Given the description of an element on the screen output the (x, y) to click on. 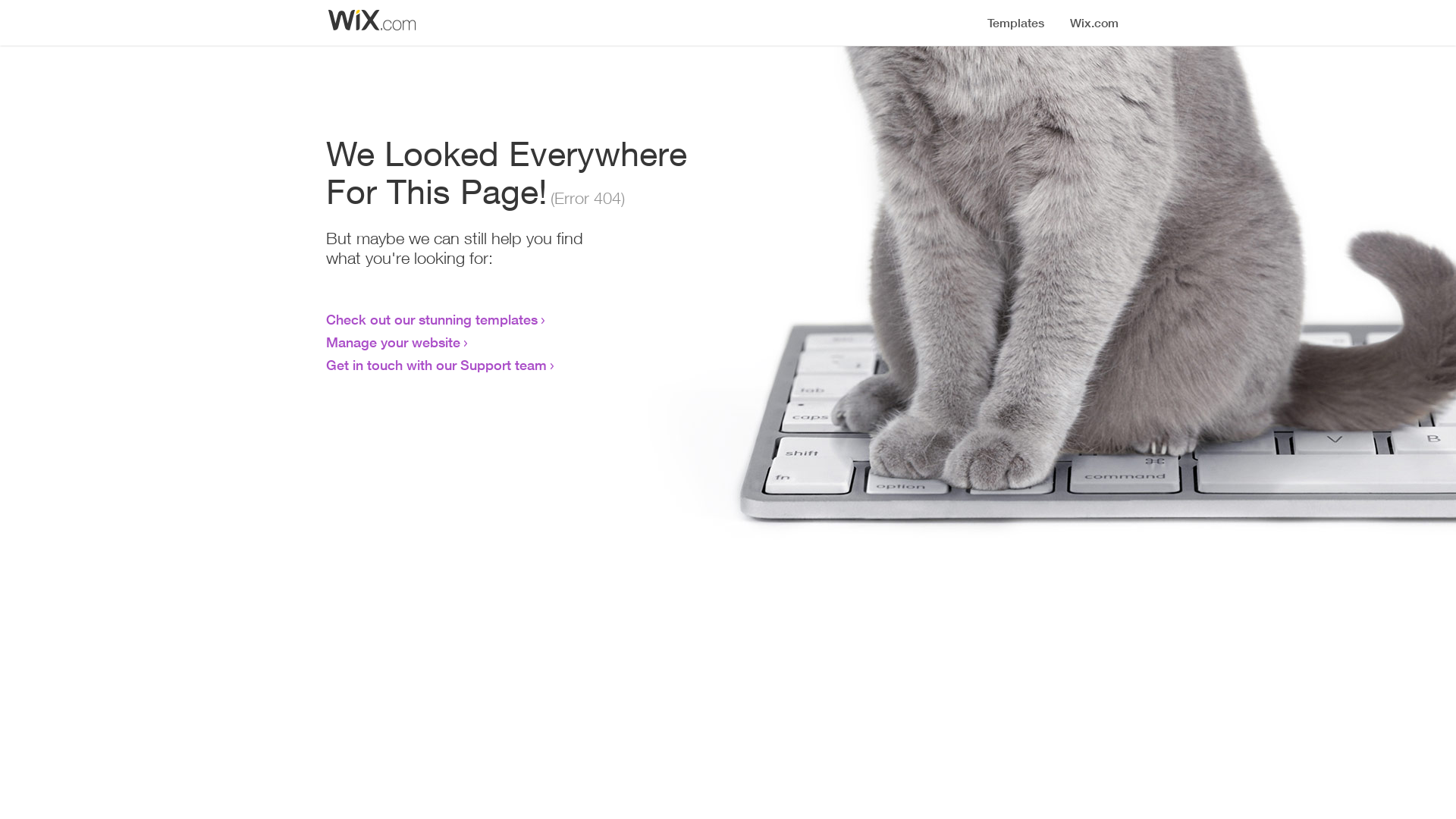
Manage your website Element type: text (393, 341)
Check out our stunning templates Element type: text (431, 318)
Get in touch with our Support team Element type: text (436, 364)
